Given the description of an element on the screen output the (x, y) to click on. 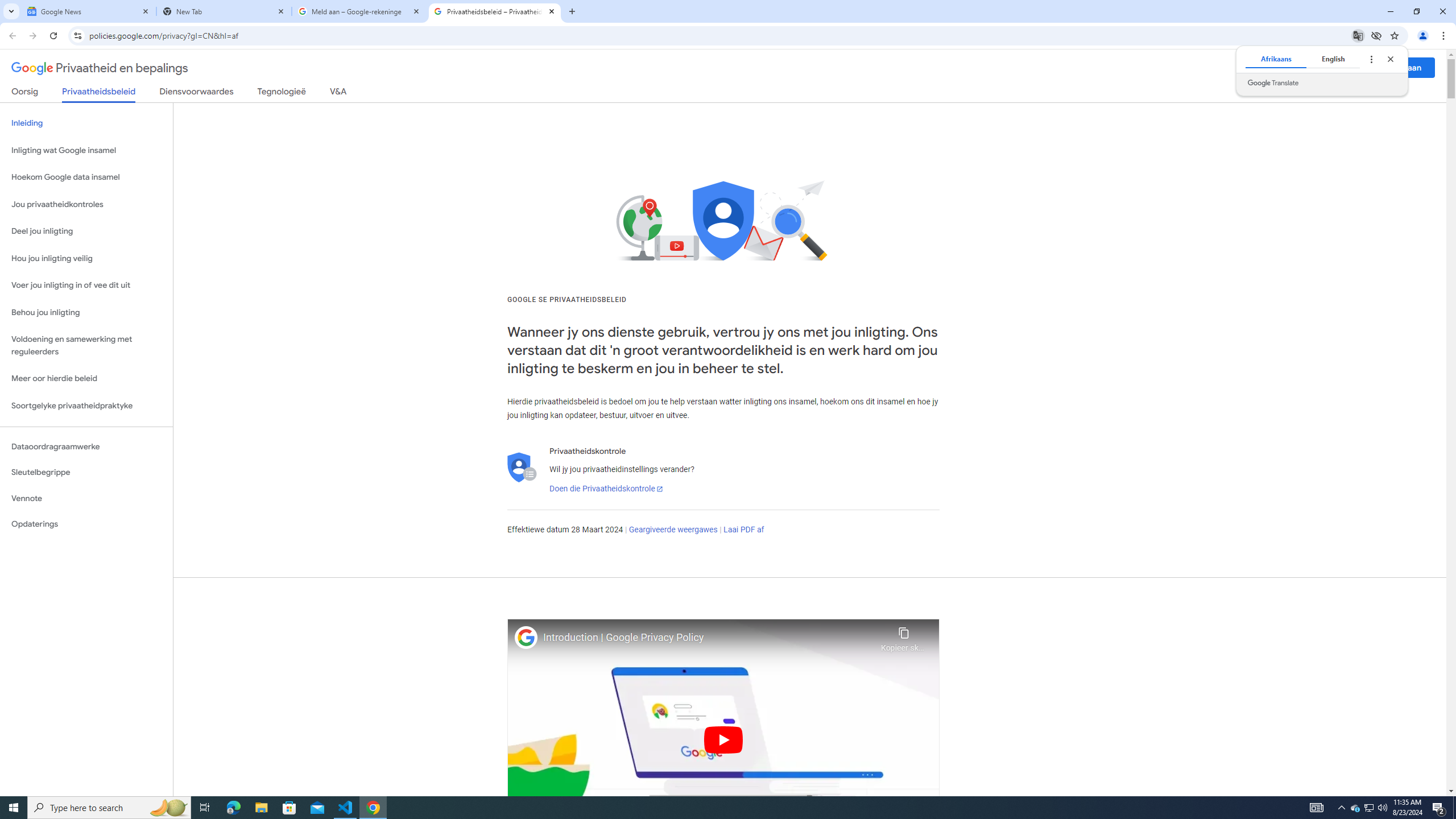
Oorsig (25, 93)
Google News (88, 11)
Doen die Privaatheidskontrole (605, 488)
Translate options (1370, 58)
English (1332, 58)
Opdaterings (86, 524)
Hoekom Google data insamel (86, 176)
Soortgelyke privaatheidpraktyke (86, 405)
